Given the description of an element on the screen output the (x, y) to click on. 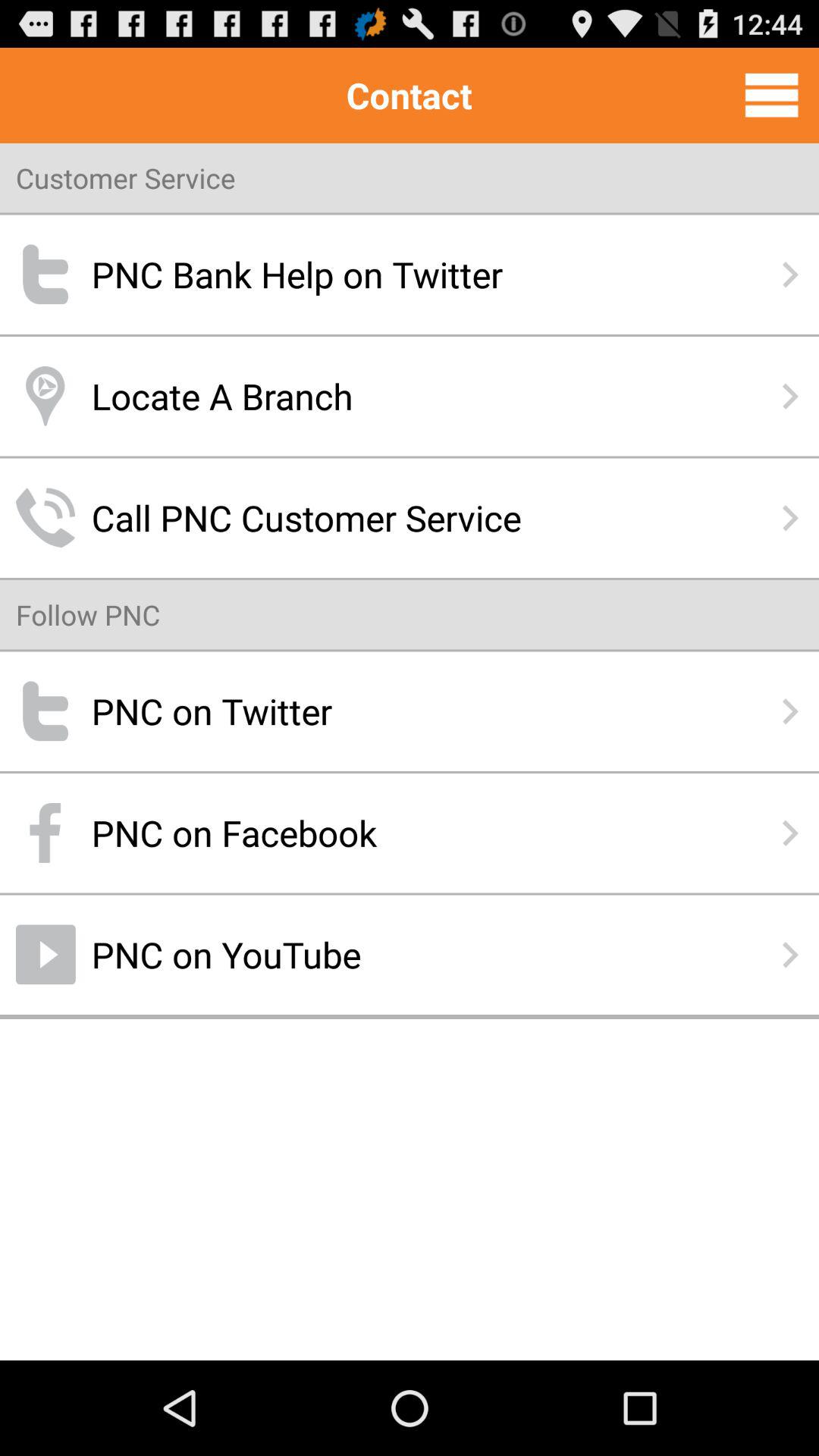
choose icon above pnc on twitter (87, 614)
